Given the description of an element on the screen output the (x, y) to click on. 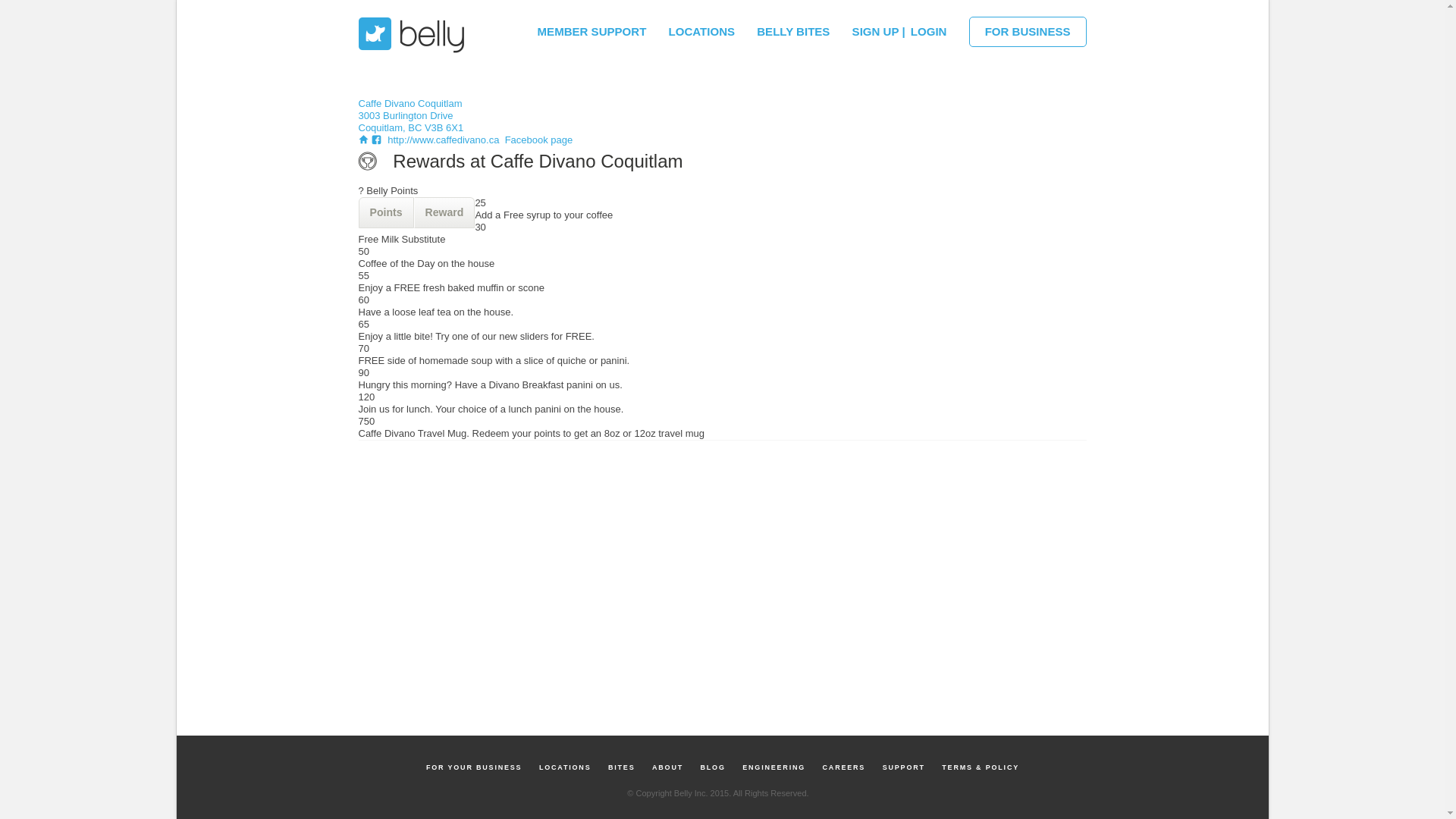
CAREERS (844, 767)
 Facebook page (537, 139)
Belly (412, 35)
BLOG (713, 767)
MEMBER SUPPORT (591, 27)
ABOUT (667, 767)
LOCATIONS (701, 27)
FOR YOUR BUSINESS (474, 767)
BITES (621, 767)
LOGIN (927, 27)
FOR BUSINESS (1027, 31)
BELLY BITES (793, 27)
ENGINEERING (773, 767)
SUPPORT (904, 767)
LOCATIONS (564, 767)
